Given the description of an element on the screen output the (x, y) to click on. 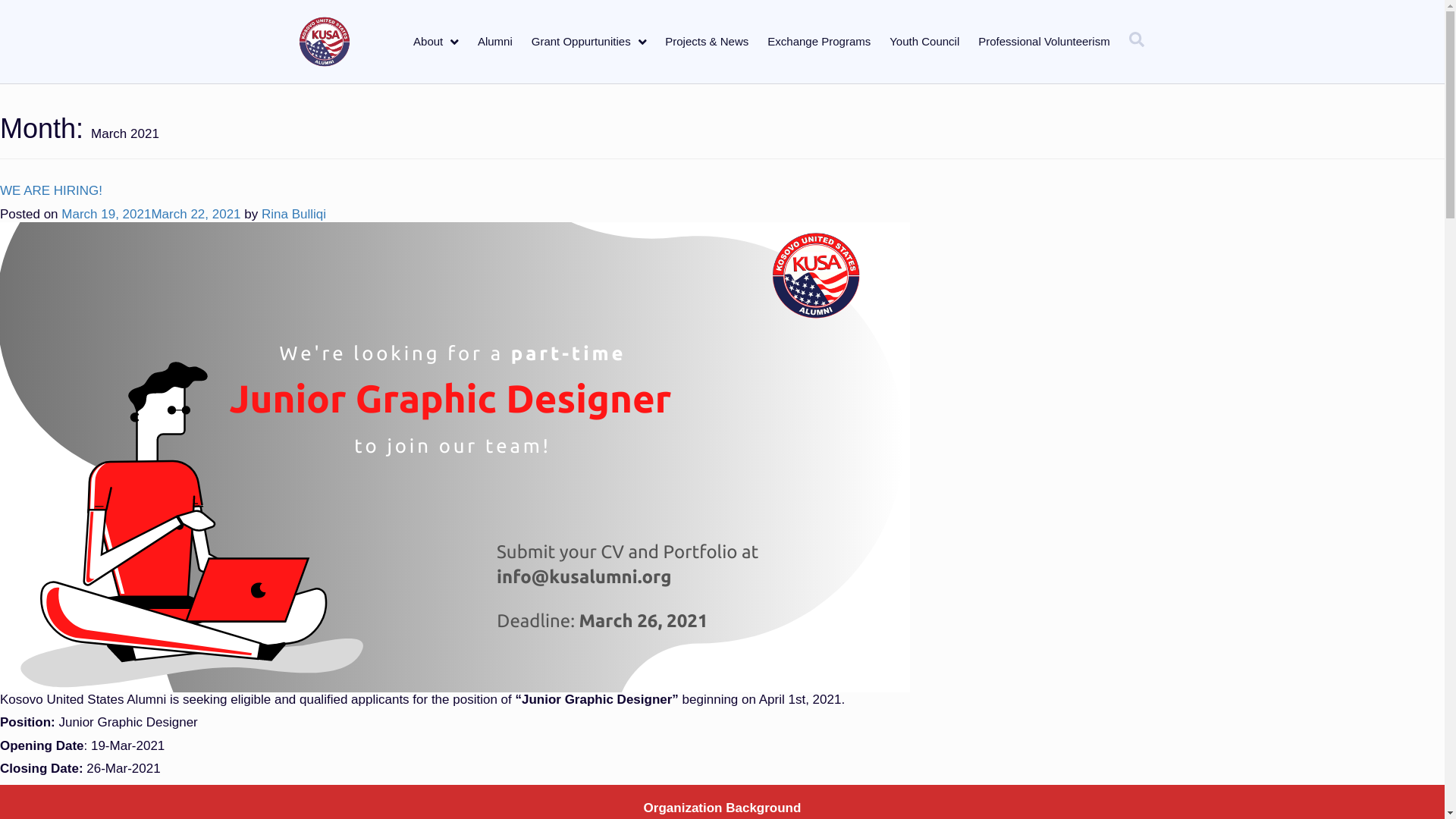
Alumni (494, 41)
About (435, 41)
Grant Oppurtunities (588, 41)
Youth Council (924, 41)
Professional Volunteerism (1043, 41)
Exchange Programs (818, 41)
